Given the description of an element on the screen output the (x, y) to click on. 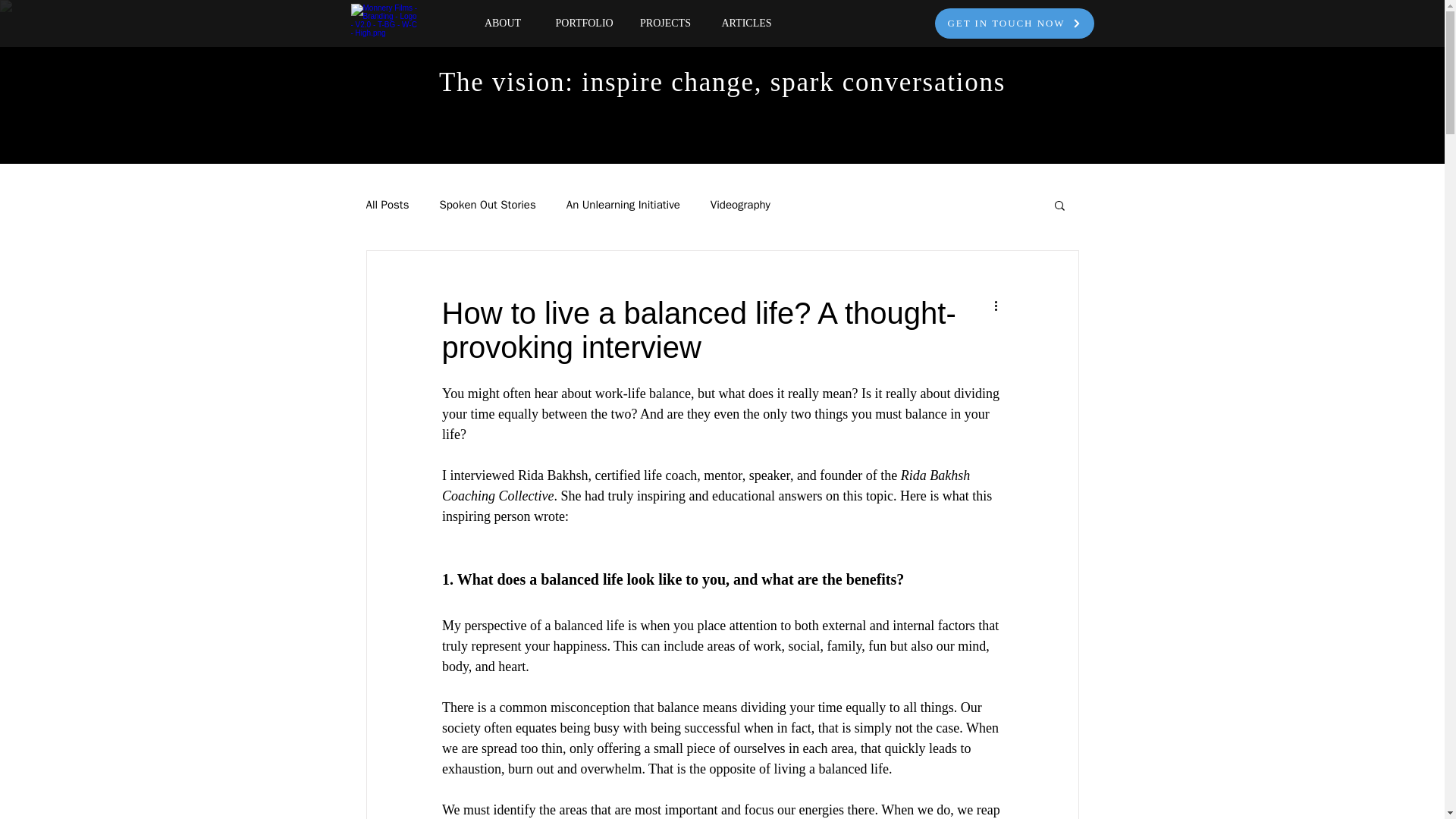
Videography (740, 204)
An Unlearning Initiative (622, 204)
ARTICLES (746, 22)
PORTFOLIO (584, 22)
GET IN TOUCH NOW (1013, 23)
All Posts (387, 204)
Spoken Out Stories (487, 204)
ABOUT (503, 22)
PROJECTS (664, 22)
